Given the description of an element on the screen output the (x, y) to click on. 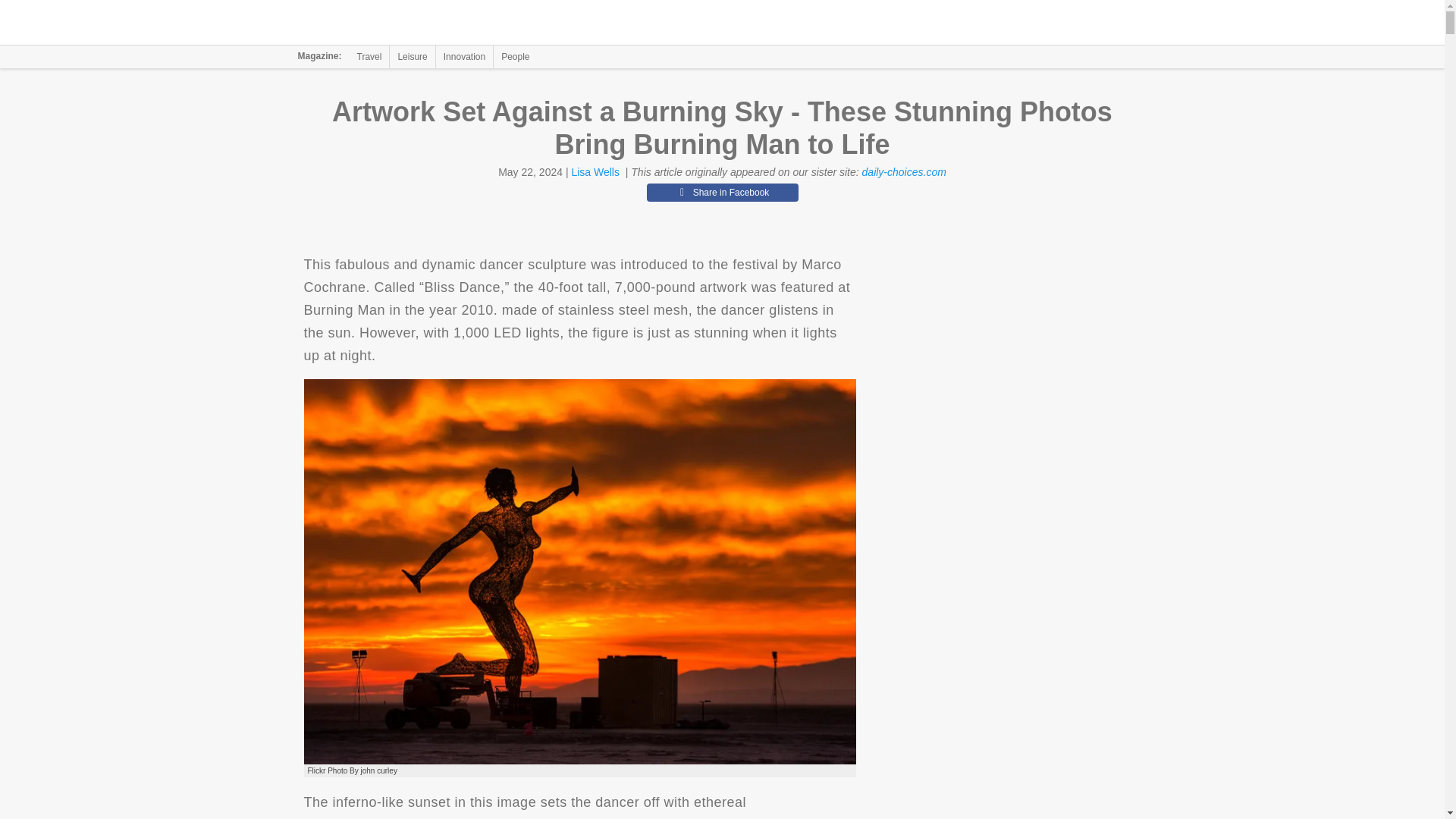
Leisure (411, 56)
Share in Facebook (721, 192)
Lisa Wells (595, 172)
Travel (369, 56)
The Jerusalem Post Magazine (391, 22)
daily-choices.com (903, 172)
People (515, 56)
Innovation (464, 56)
